Given the description of an element on the screen output the (x, y) to click on. 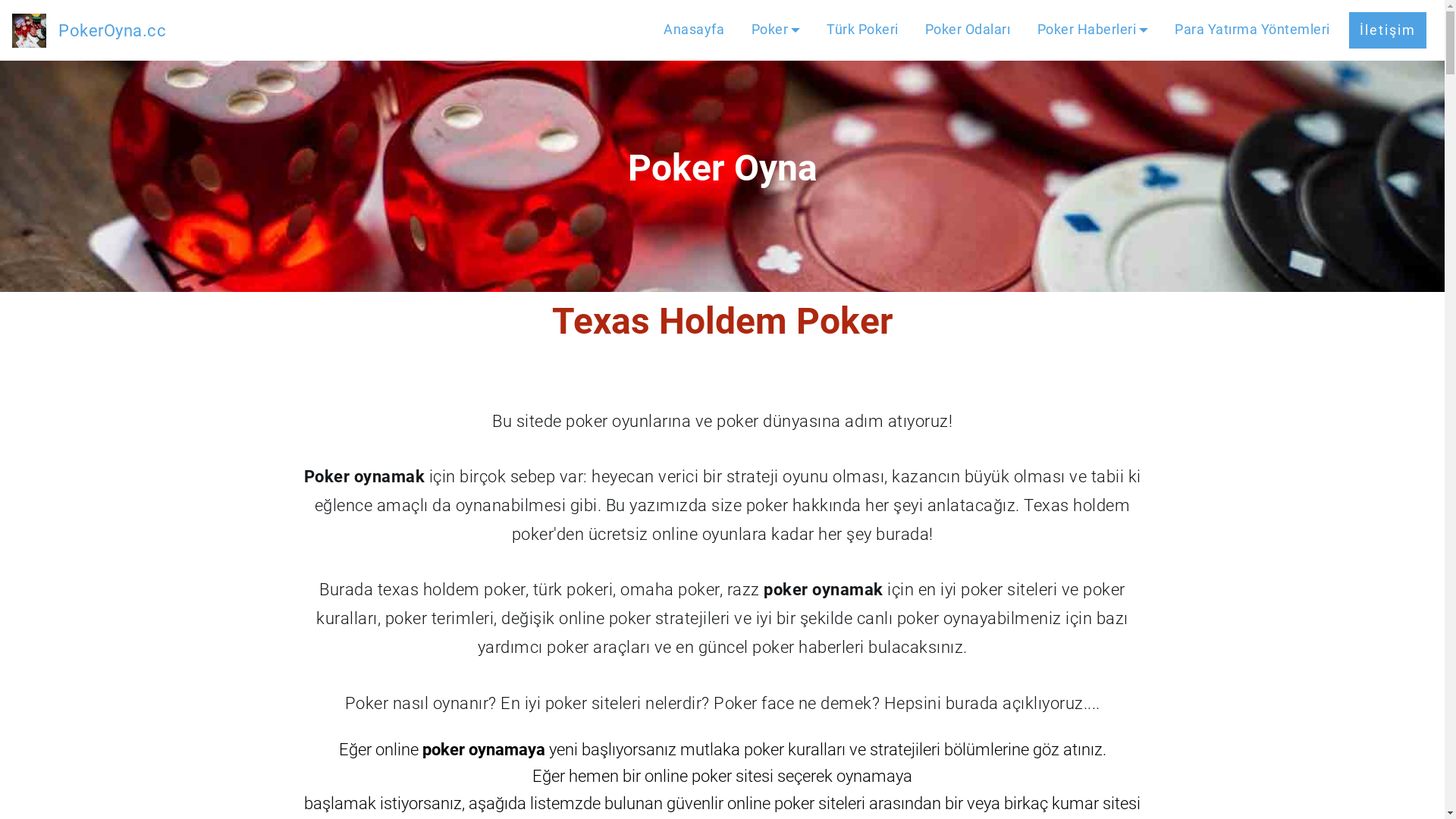
Poker Haberleri Element type: text (1092, 29)
PokerOyna.cc Element type: text (112, 30)
Poker Element type: text (775, 29)
poker oyna Element type: hover (29, 30)
Anasayfa Element type: text (693, 29)
